Given the description of an element on the screen output the (x, y) to click on. 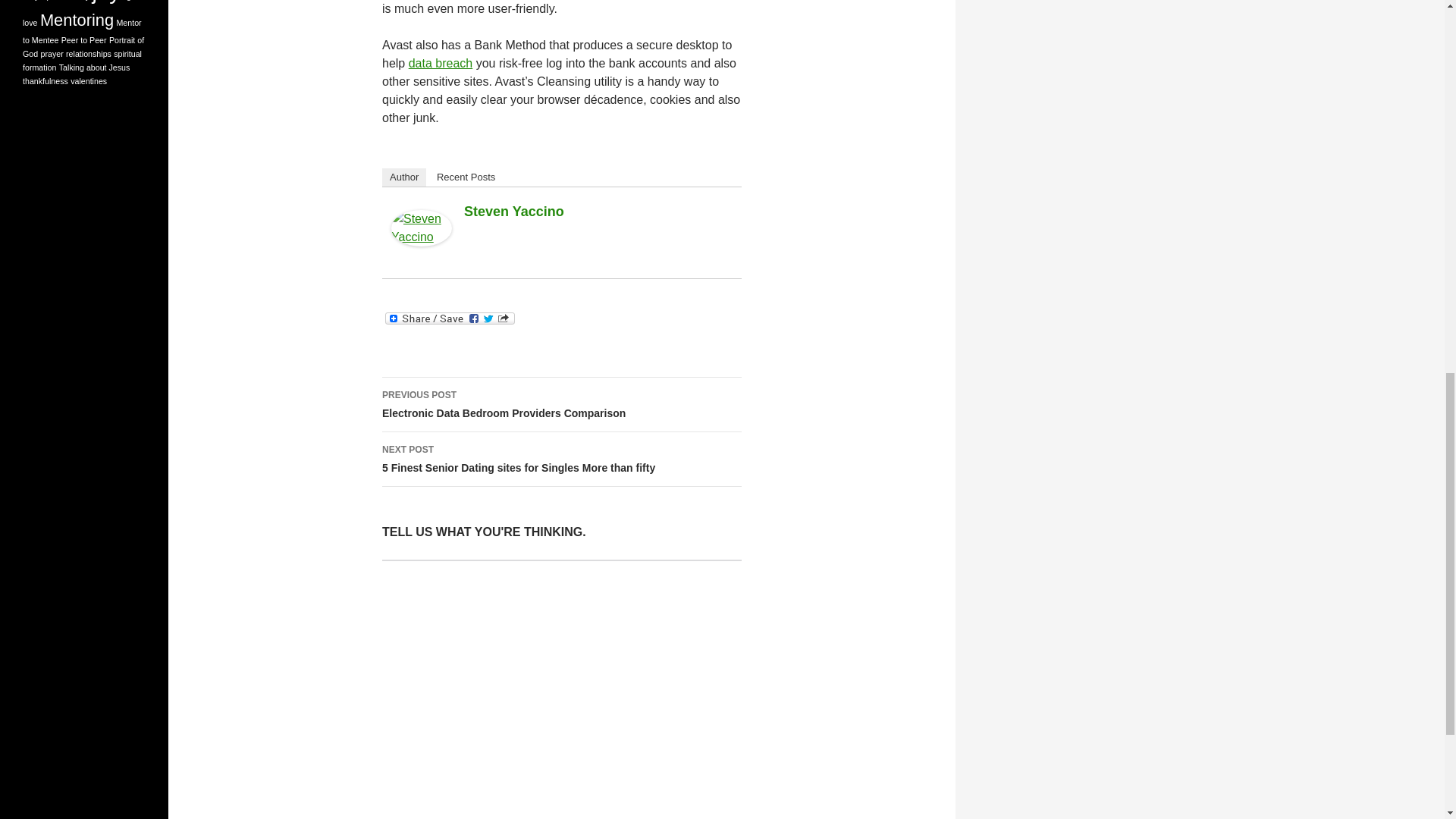
Author (561, 404)
data breach (403, 177)
Recent Posts (441, 62)
Steven Yaccino (465, 177)
Comment Form (514, 211)
Steven Yaccino (561, 689)
